Given the description of an element on the screen output the (x, y) to click on. 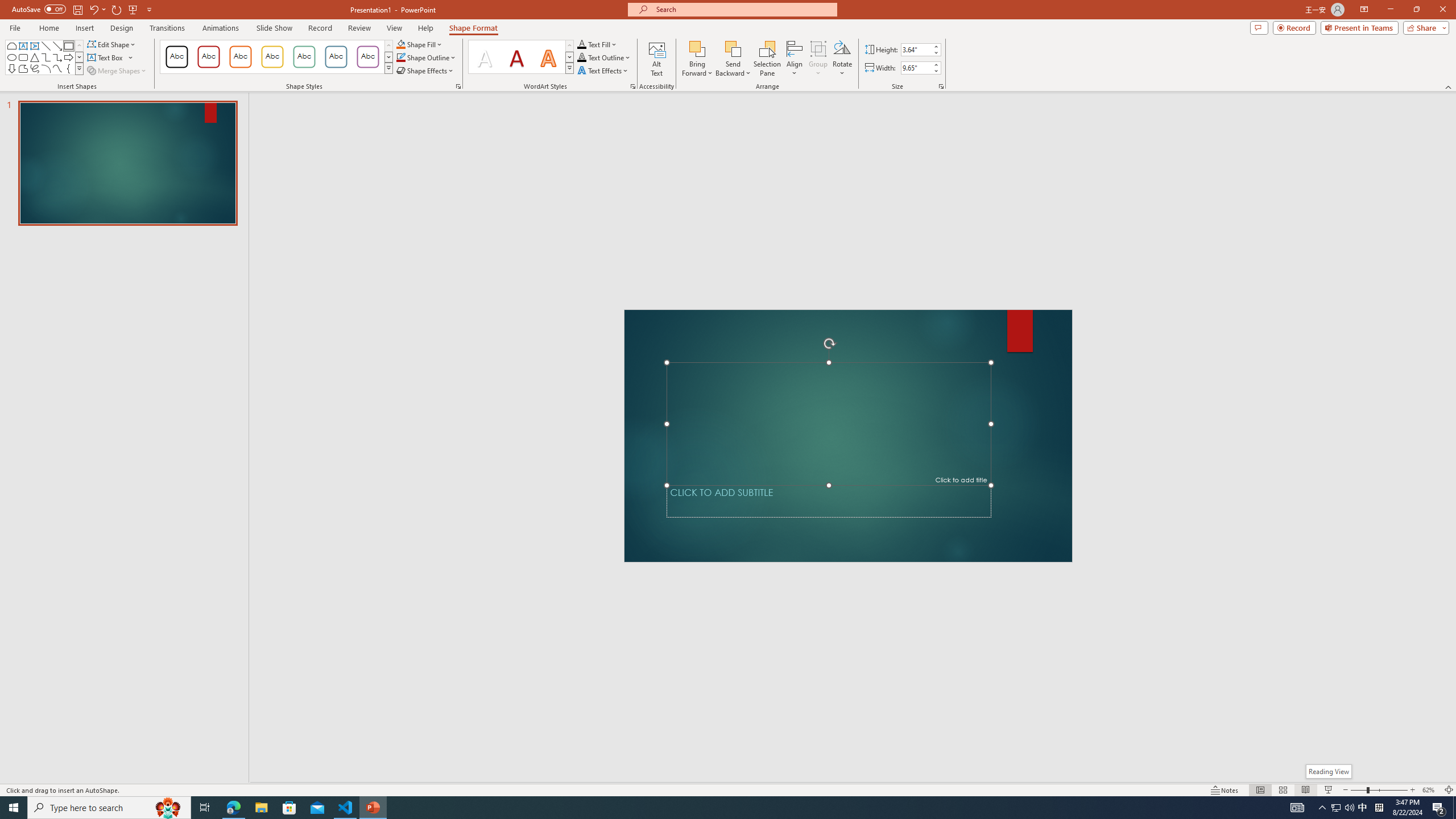
Isosceles Triangle (34, 57)
Zoom 62% (1430, 790)
Present in Teams (1359, 27)
Ribbon Display Options (1364, 9)
Bring Forward (697, 58)
Customize Quick Access Toolbar (149, 9)
Text Outline RGB(0, 0, 0) (581, 56)
Title TextBox (828, 423)
Merge Shapes (117, 69)
Colored Outline - Gold, Accent 3 (272, 56)
Fill: White, Text color 1; Shadow (484, 56)
Zoom Out (1359, 790)
